Given the description of an element on the screen output the (x, y) to click on. 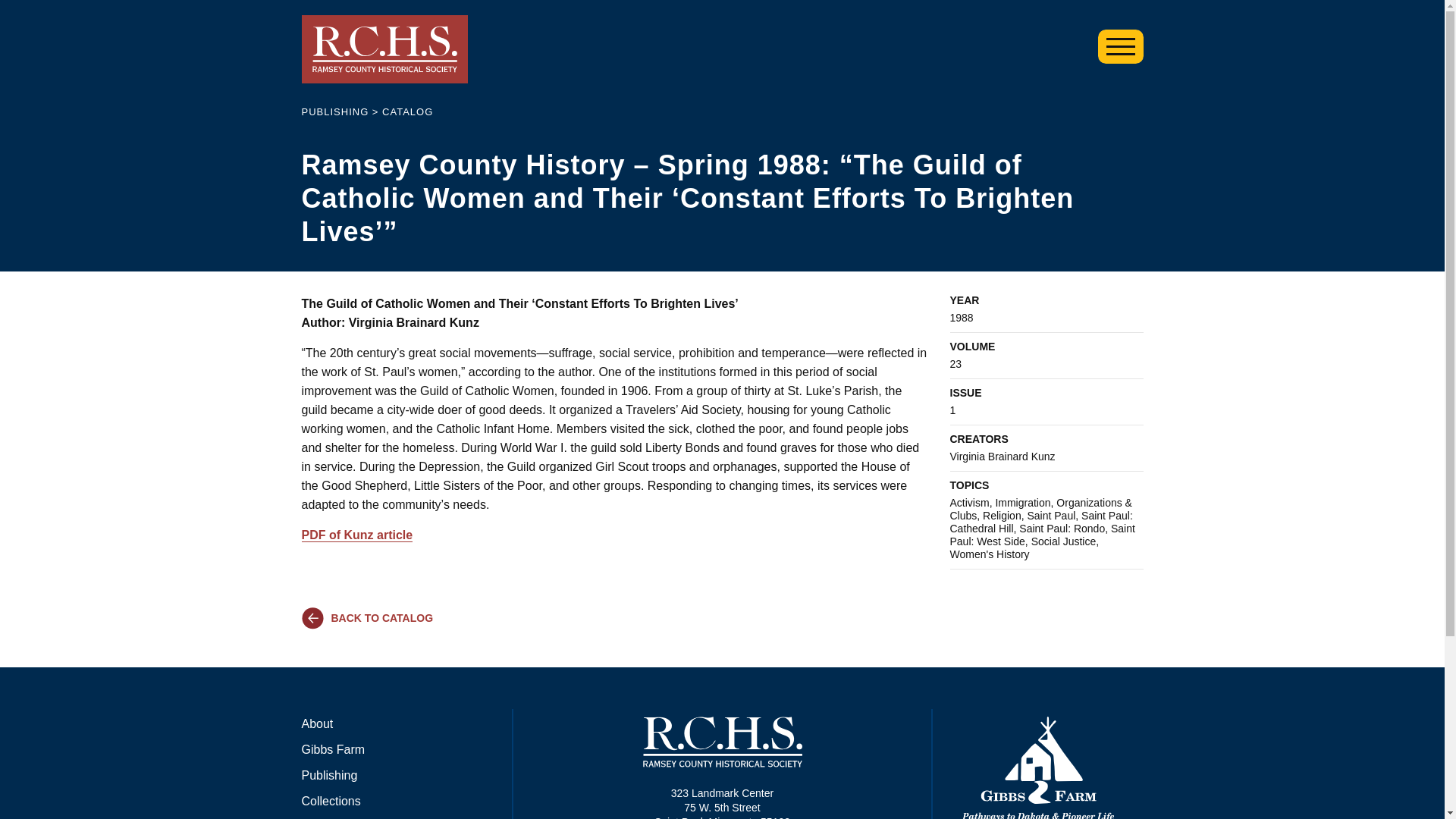
Go to Catalog. (406, 111)
Go to Publishing. (335, 111)
